Given the description of an element on the screen output the (x, y) to click on. 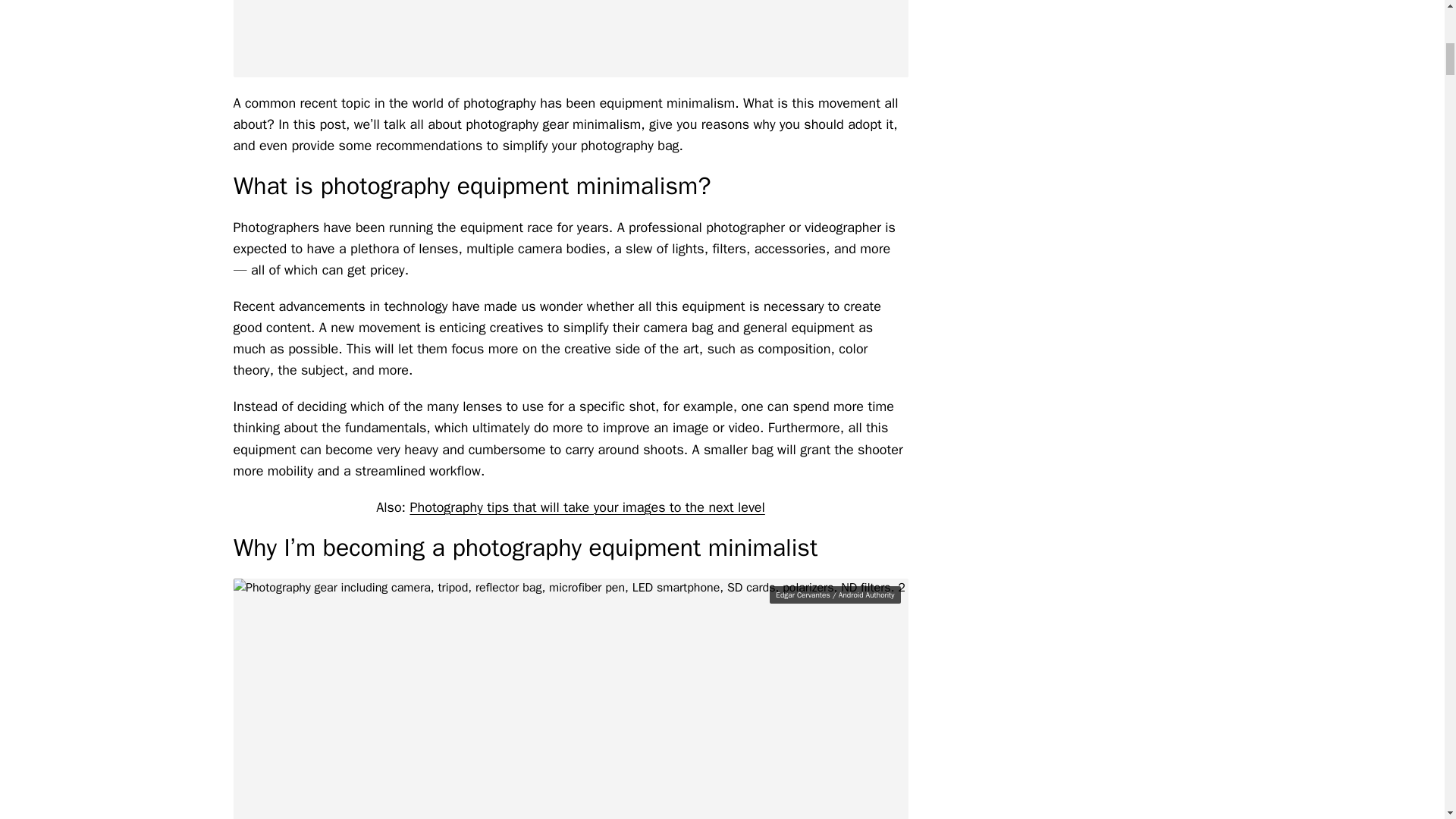
Sony A6000 mirrorless camera (570, 38)
